Given the description of an element on the screen output the (x, y) to click on. 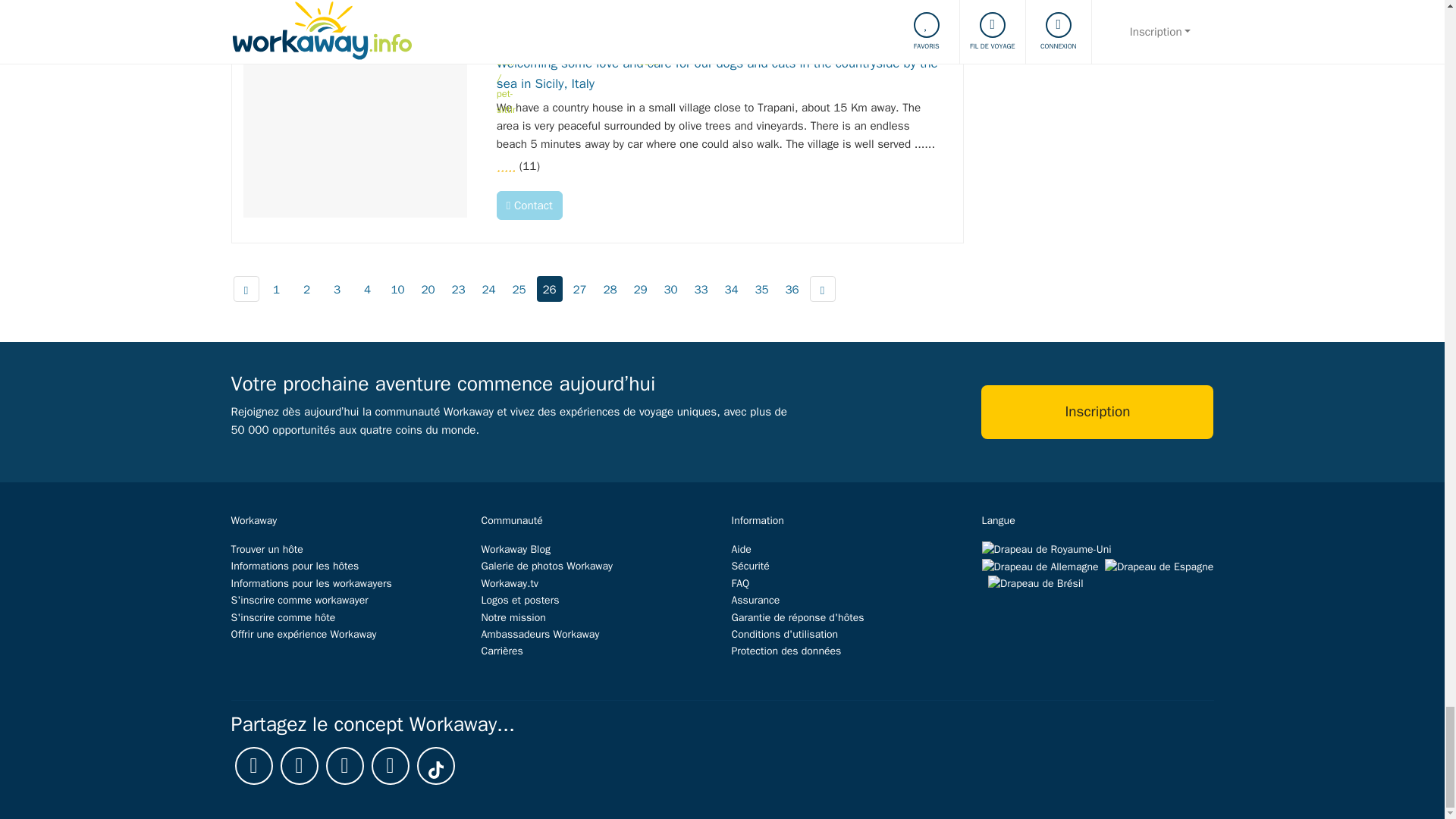
YouTube (345, 765)
twitter (299, 765)
TikTok (435, 765)
english (1045, 549)
deutsch (1039, 566)
instagram (390, 765)
Facebook (253, 765)
brazil (1035, 583)
